Given the description of an element on the screen output the (x, y) to click on. 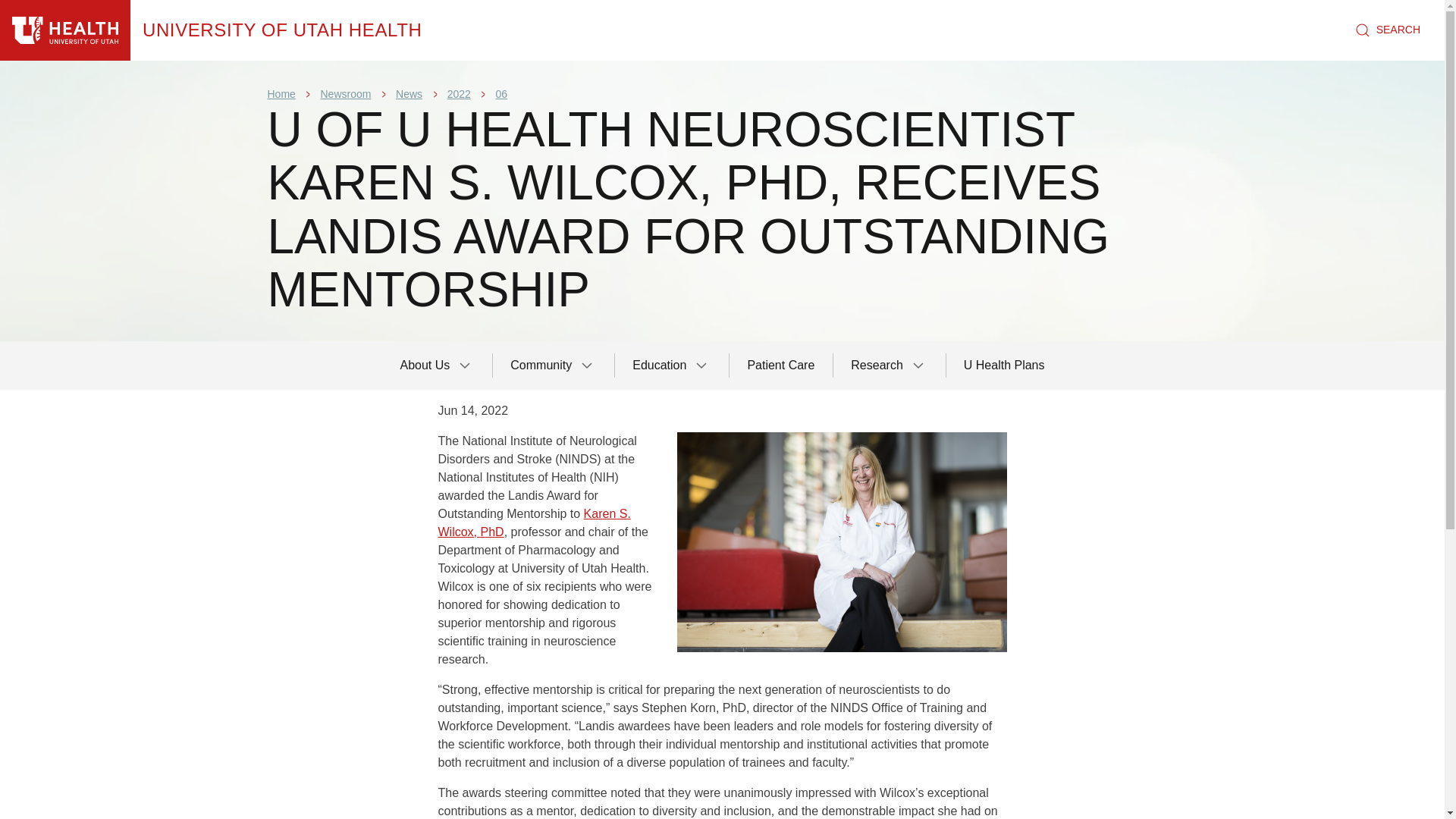
SEARCH (1387, 30)
Education (671, 365)
06 (502, 93)
Patient Care (780, 365)
2022 (458, 93)
Research (888, 365)
Newsroom (345, 93)
U Health Plans (1003, 365)
Home (282, 30)
News (409, 93)
UNIVERSITY OF UTAH HEALTH (282, 30)
Home (280, 93)
Community (553, 365)
Home (65, 30)
